Given the description of an element on the screen output the (x, y) to click on. 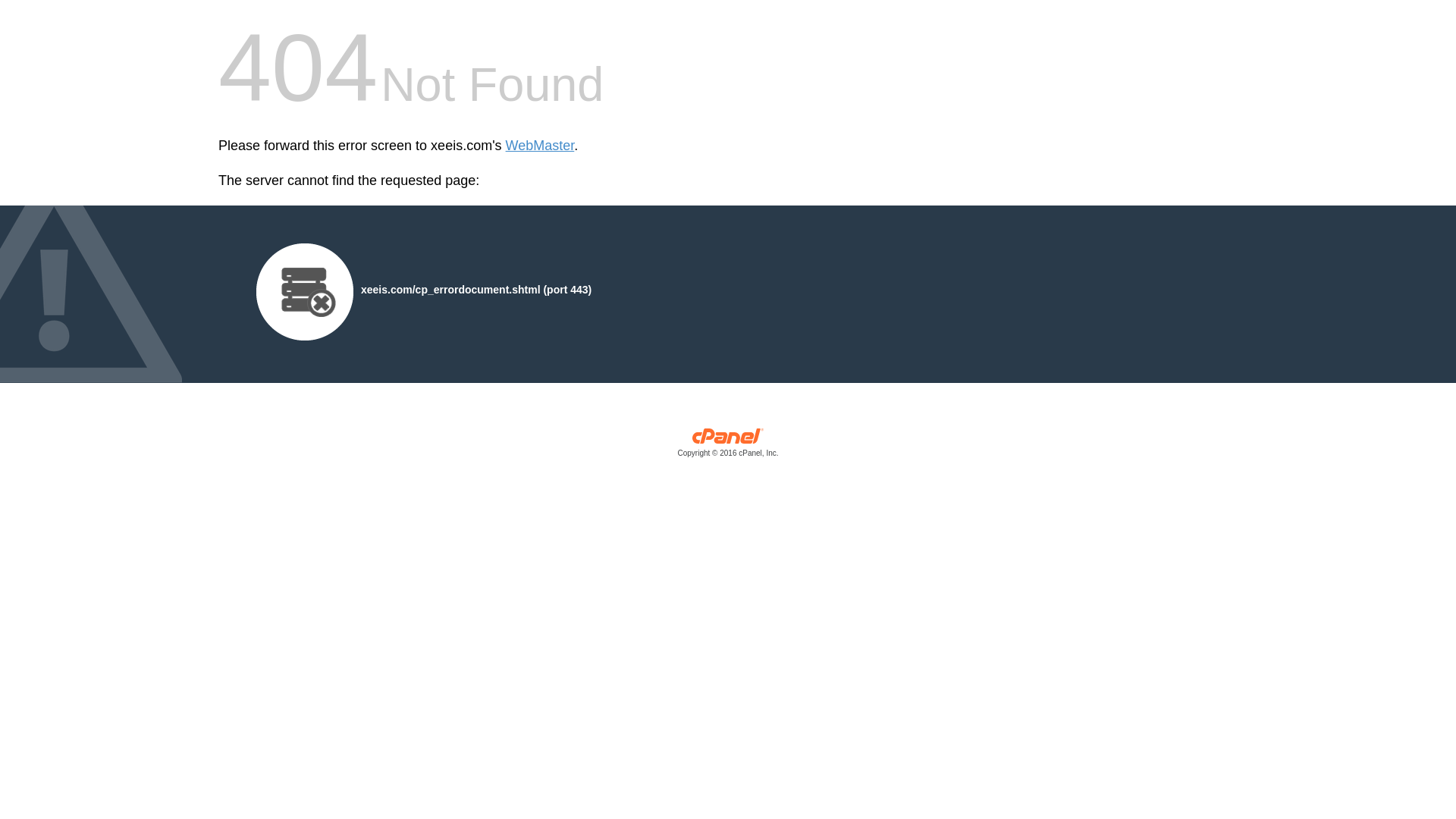
WebMaster (540, 145)
cPanel, Inc. (727, 446)
